Given the description of an element on the screen output the (x, y) to click on. 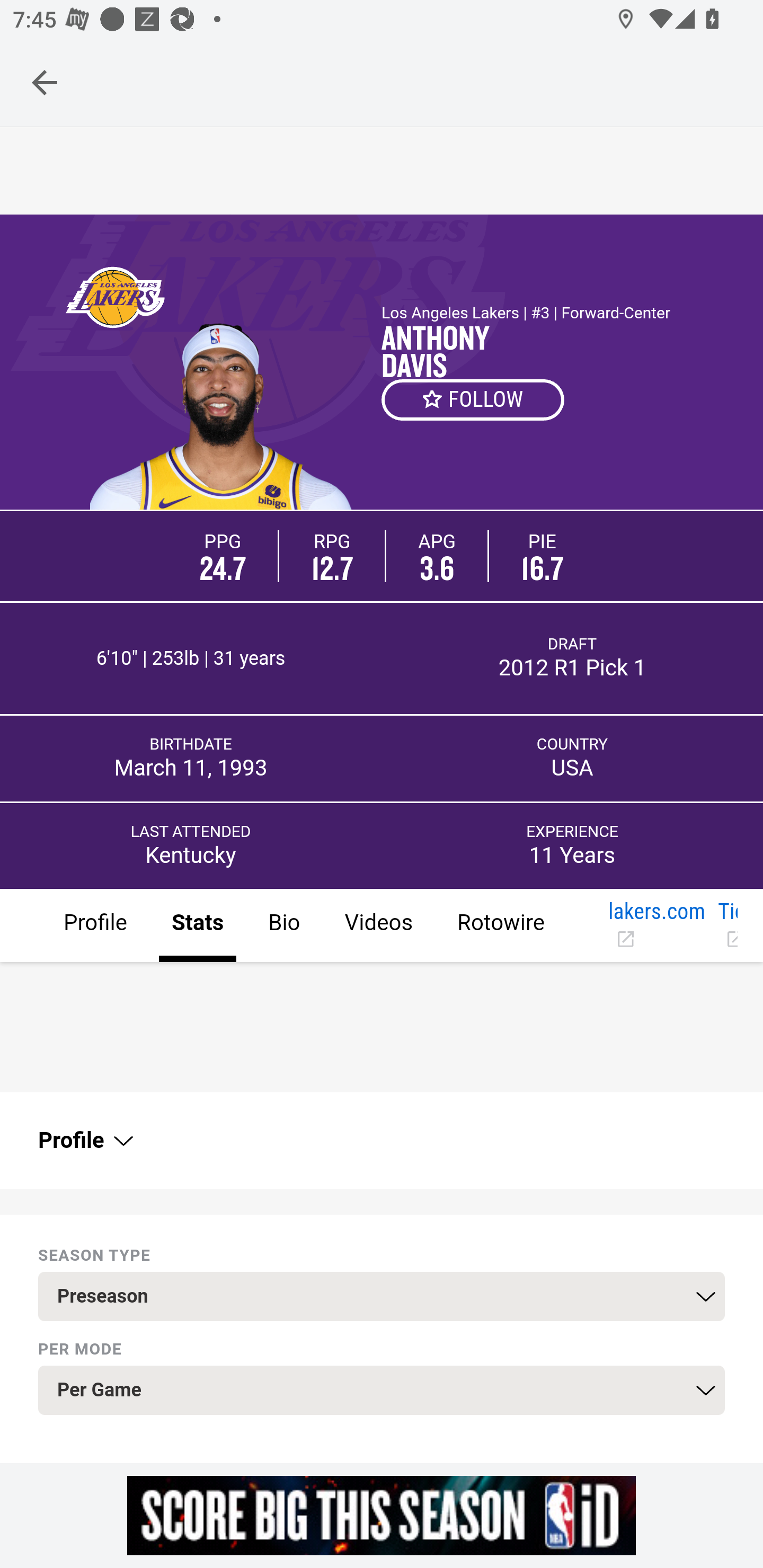
Navigate up (44, 82)
Los Angeles Lakers Logo (114, 297)
FOLLOW (473, 399)
Profile (95, 926)
Stats (196, 926)
Bio (283, 926)
Videos (377, 926)
Rotowire (500, 926)
lakers.com (656, 926)
Profile (84, 1140)
Preseason (381, 1296)
Per Game (381, 1390)
g5nqqygr7owph (381, 1515)
